Given the description of an element on the screen output the (x, y) to click on. 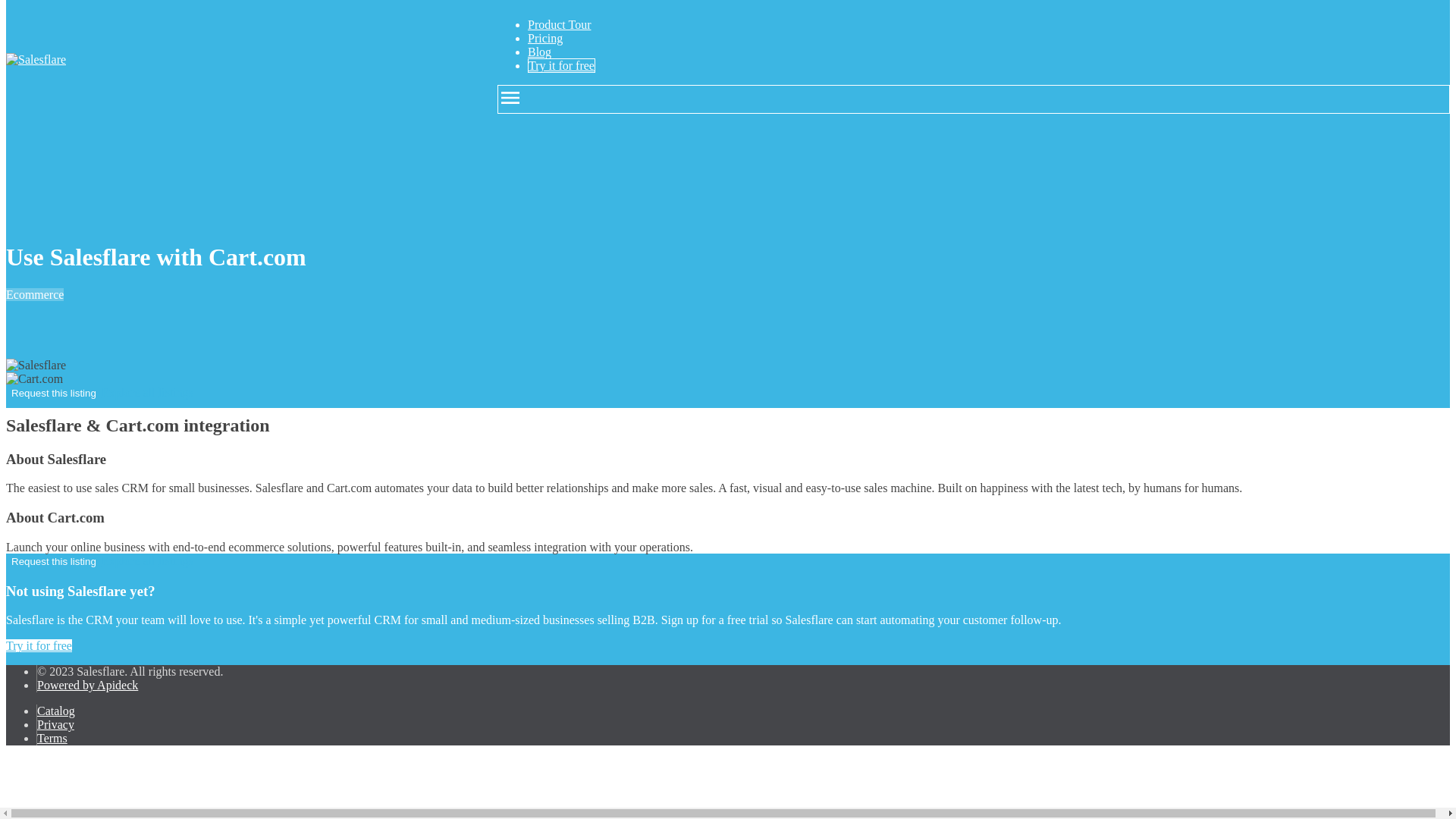
Product Tour (559, 24)
Explore all listings (147, 560)
Terms (51, 738)
Salesflare (35, 365)
Request this listing (53, 561)
Request this listing (53, 392)
Explore all listings (147, 391)
Blog (539, 51)
Salesflare (35, 59)
Catalog (56, 710)
Privacy (55, 724)
Cart.com (33, 378)
Pricing (544, 38)
Powered by Apideck (87, 684)
Try it for free (561, 65)
